Given the description of an element on the screen output the (x, y) to click on. 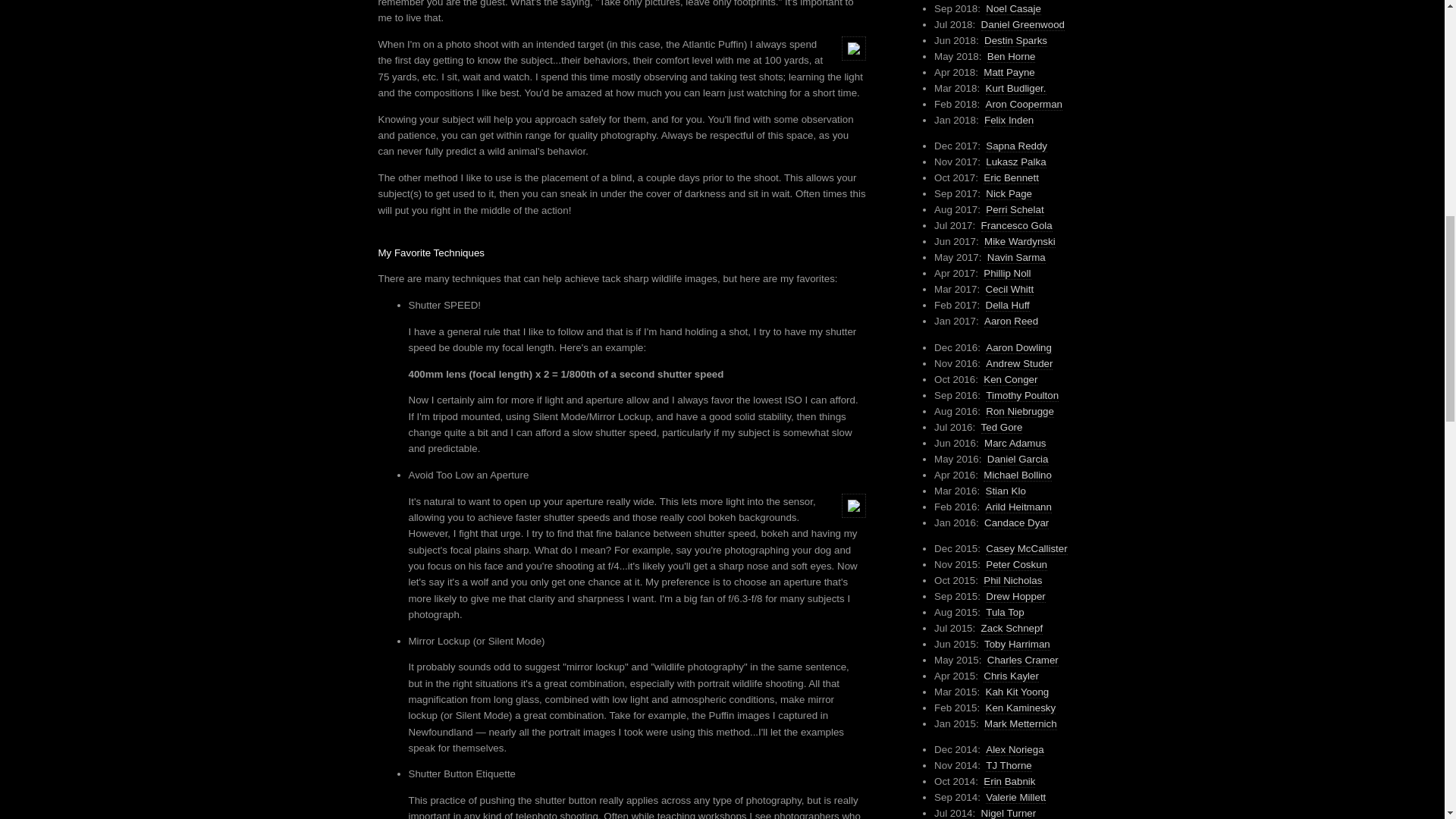
Ben Horne (1011, 56)
Noel Casaje (1013, 9)
Matt Payne (1008, 72)
Kurt Budliger. (1015, 88)
Destin Sparks (1015, 40)
Daniel Greenwood (1022, 24)
